Given the description of an element on the screen output the (x, y) to click on. 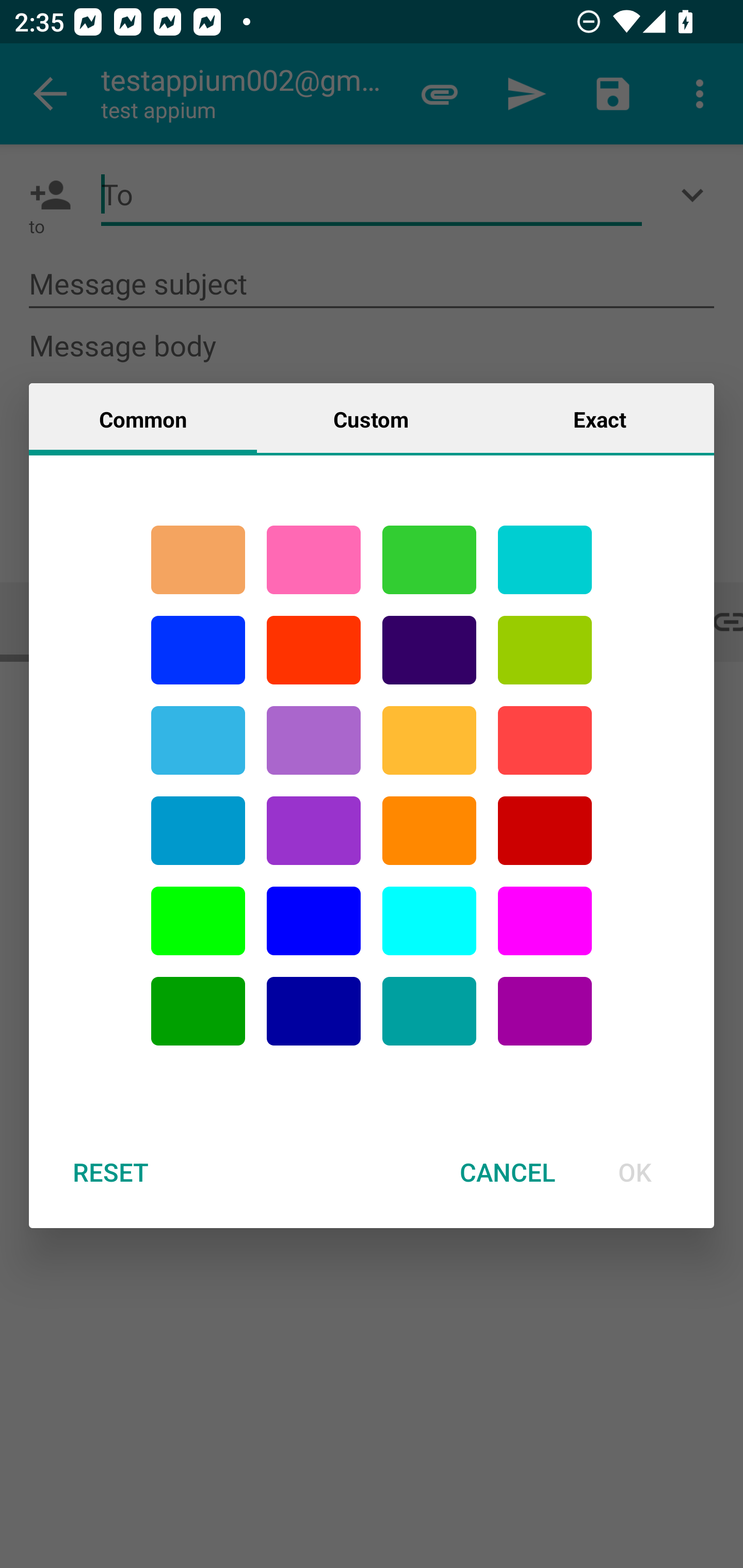
Common (142, 418)
Custom (371, 418)
Exact (599, 418)
Peach (197, 559)
Pink (313, 559)
Green (429, 559)
Cyan (544, 559)
Blue (197, 649)
Red (313, 649)
Dark purple (429, 649)
Light green (544, 649)
Cyan (197, 739)
Purple (313, 739)
Light orange (429, 739)
Light red (544, 739)
Dark cyan (197, 830)
Purple (313, 830)
Orange (429, 830)
Dark red (544, 830)
Light green (197, 920)
Blue (313, 920)
Light cyan (429, 920)
Light purple (544, 920)
Dark green (197, 1010)
Dark blue (313, 1010)
Cyan (429, 1010)
Purple (544, 1010)
RESET (110, 1171)
CANCEL (507, 1171)
OK (634, 1171)
